Given the description of an element on the screen output the (x, y) to click on. 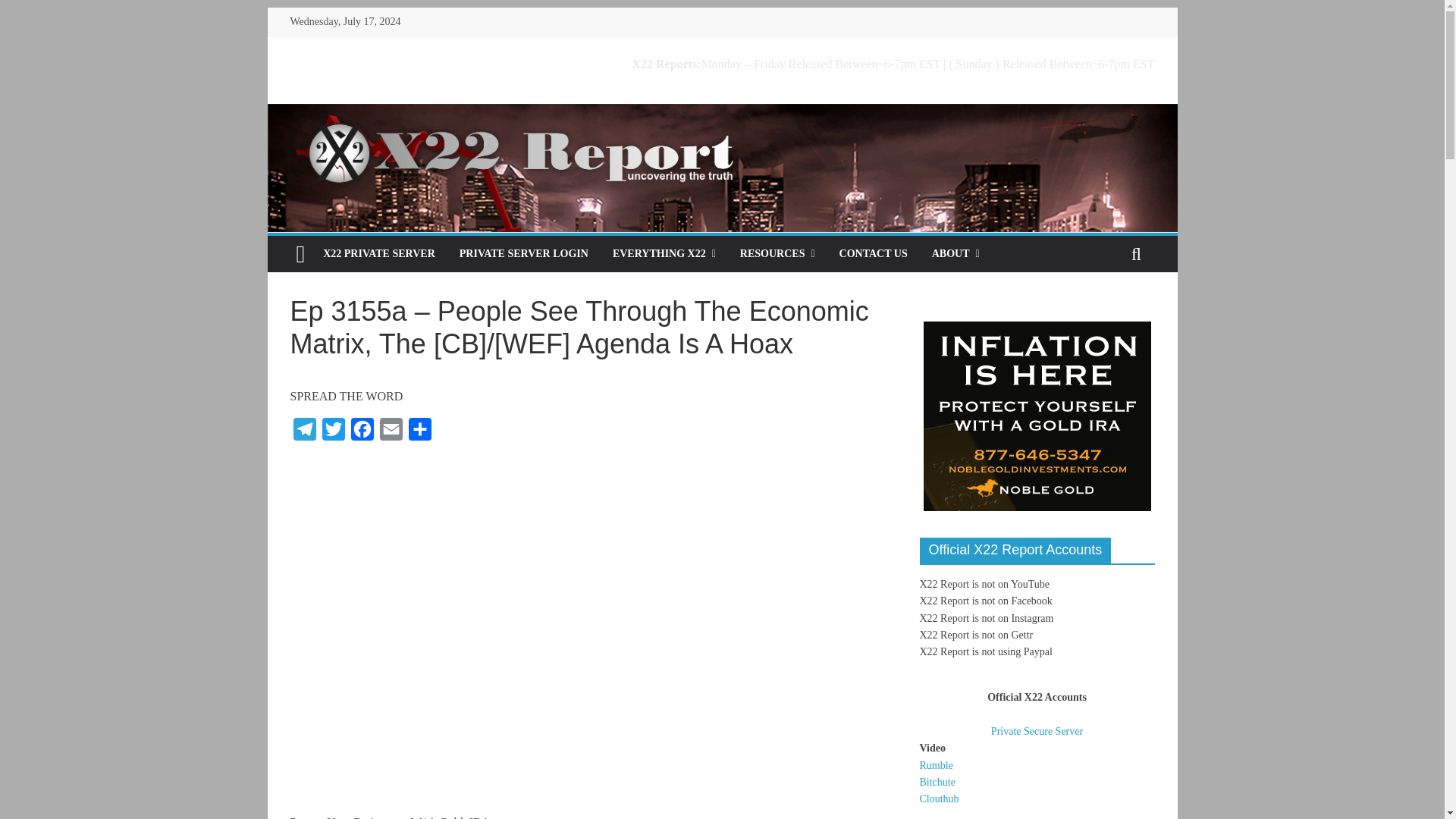
Facebook (361, 432)
Telegram (303, 432)
PRIVATE SERVER LOGIN (522, 253)
Telegram (303, 432)
CONTACT US (873, 253)
RESOURCES (777, 253)
Email (389, 432)
Twitter (332, 432)
X22 PRIVATE SERVER (378, 253)
Facebook (361, 432)
ABOUT (955, 253)
EVERYTHING X22 (663, 253)
Email (389, 432)
Twitter (332, 432)
